Given the description of an element on the screen output the (x, y) to click on. 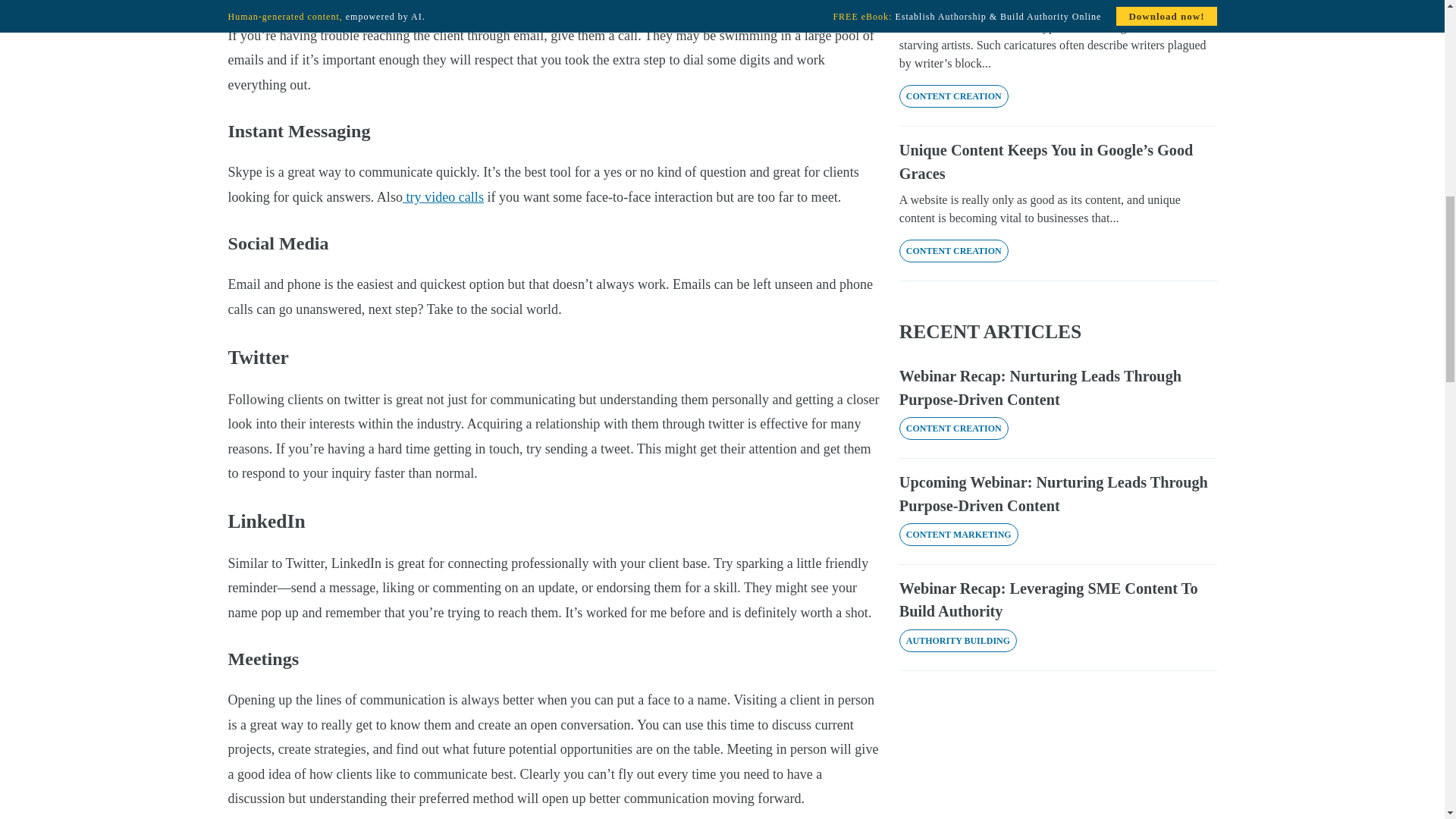
try video calls (443, 196)
